Given the description of an element on the screen output the (x, y) to click on. 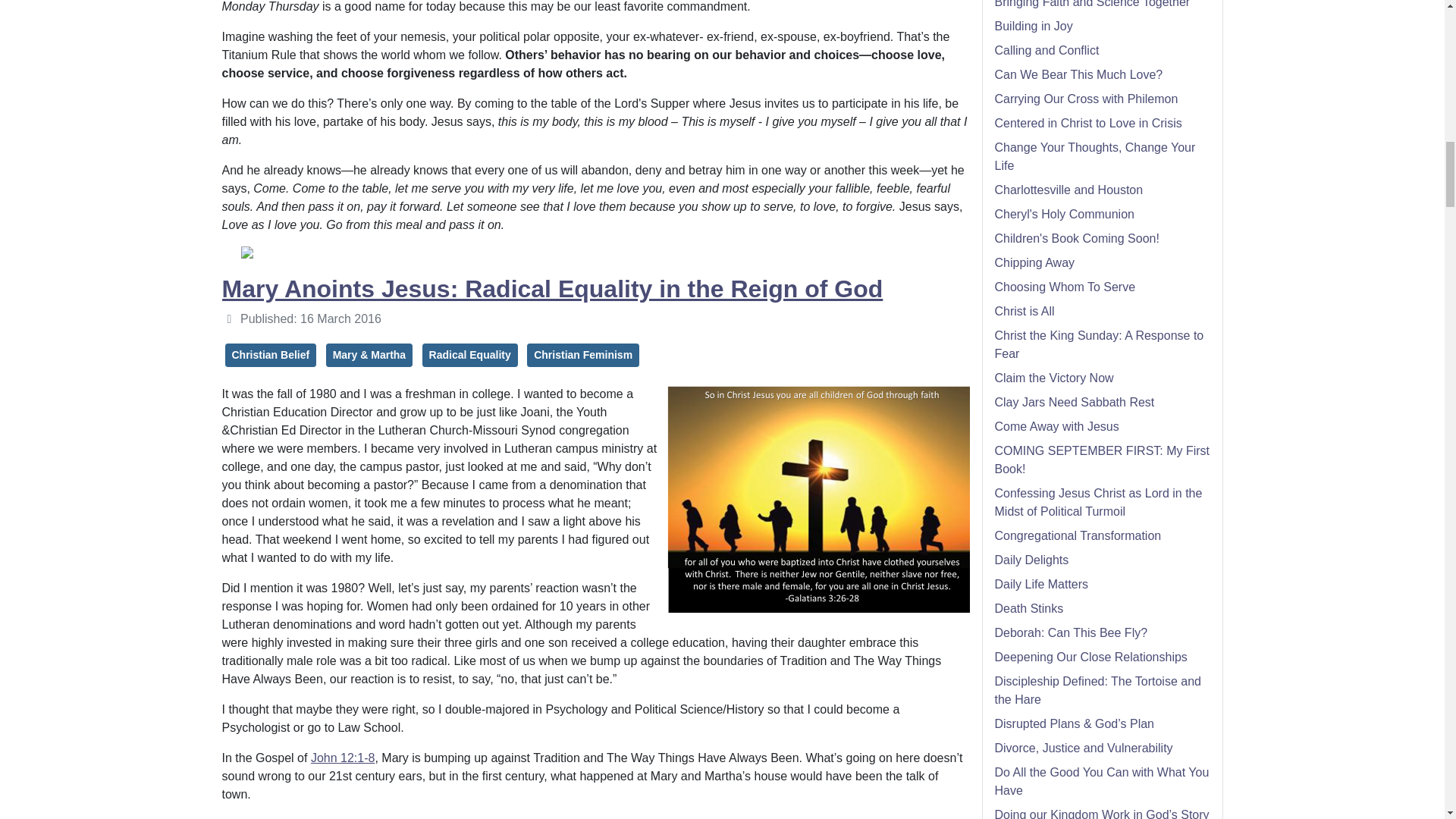
Mary Anoints Jesus: Radical Equality in the Reign of God (551, 288)
John 12:1-8 (343, 757)
Christian Feminism (583, 354)
Christian Belief (269, 354)
Radical Equality (470, 354)
